Given the description of an element on the screen output the (x, y) to click on. 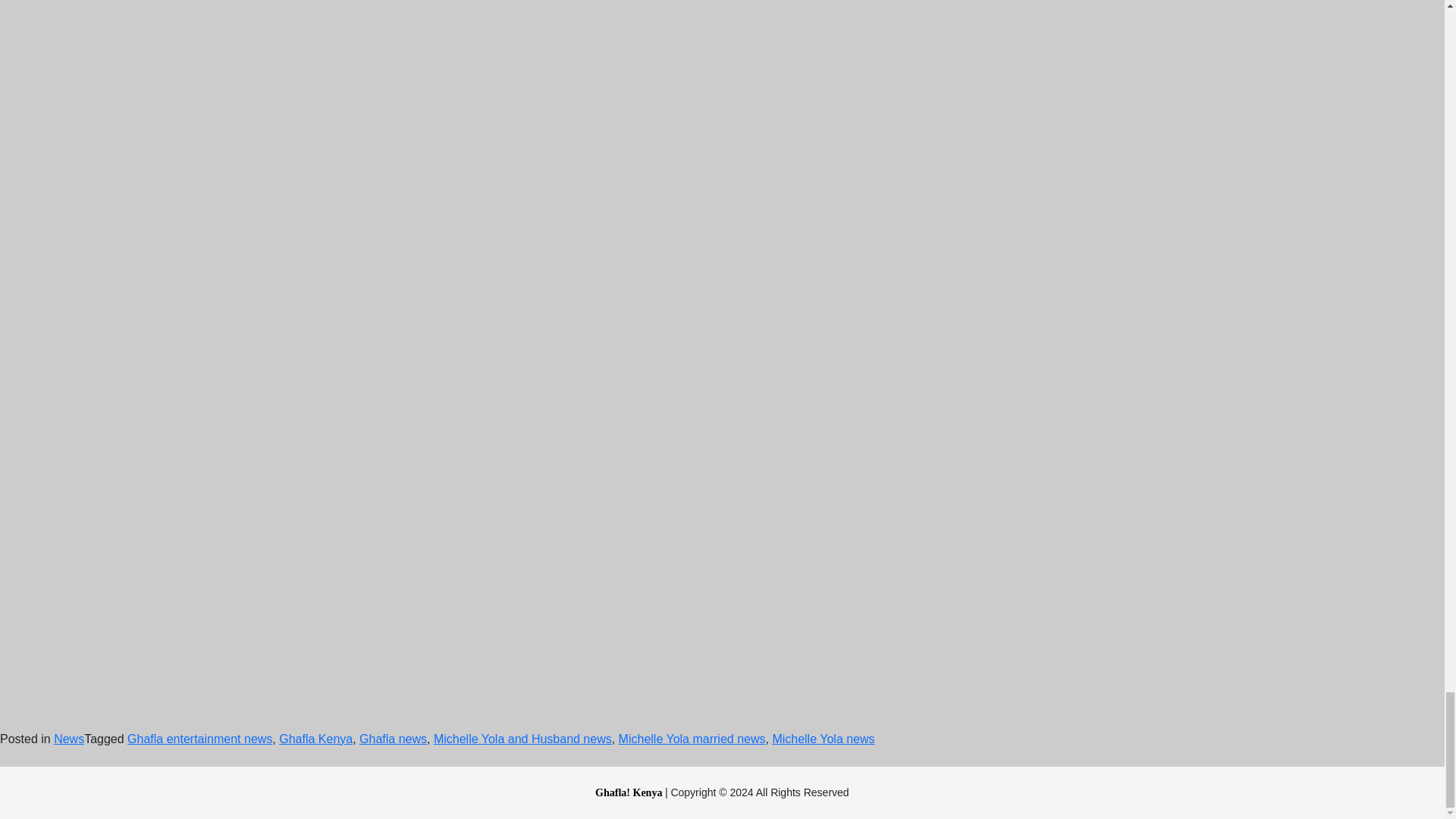
Ghafla news (392, 738)
News (68, 738)
Ghafla entertainment news (200, 738)
Ghafla Kenya (315, 738)
